Given the description of an element on the screen output the (x, y) to click on. 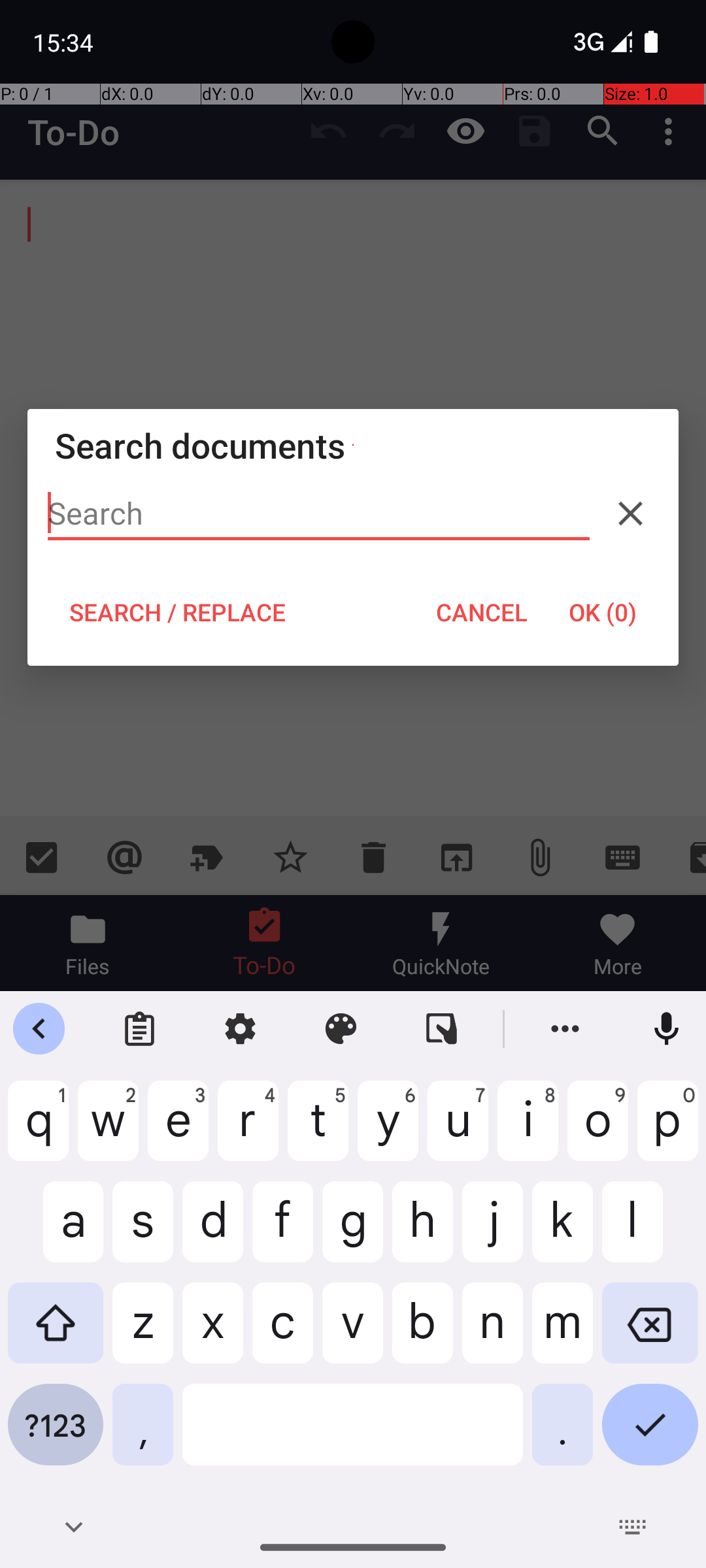
OK (0) Element type: android.widget.Button (602, 611)
